Given the description of an element on the screen output the (x, y) to click on. 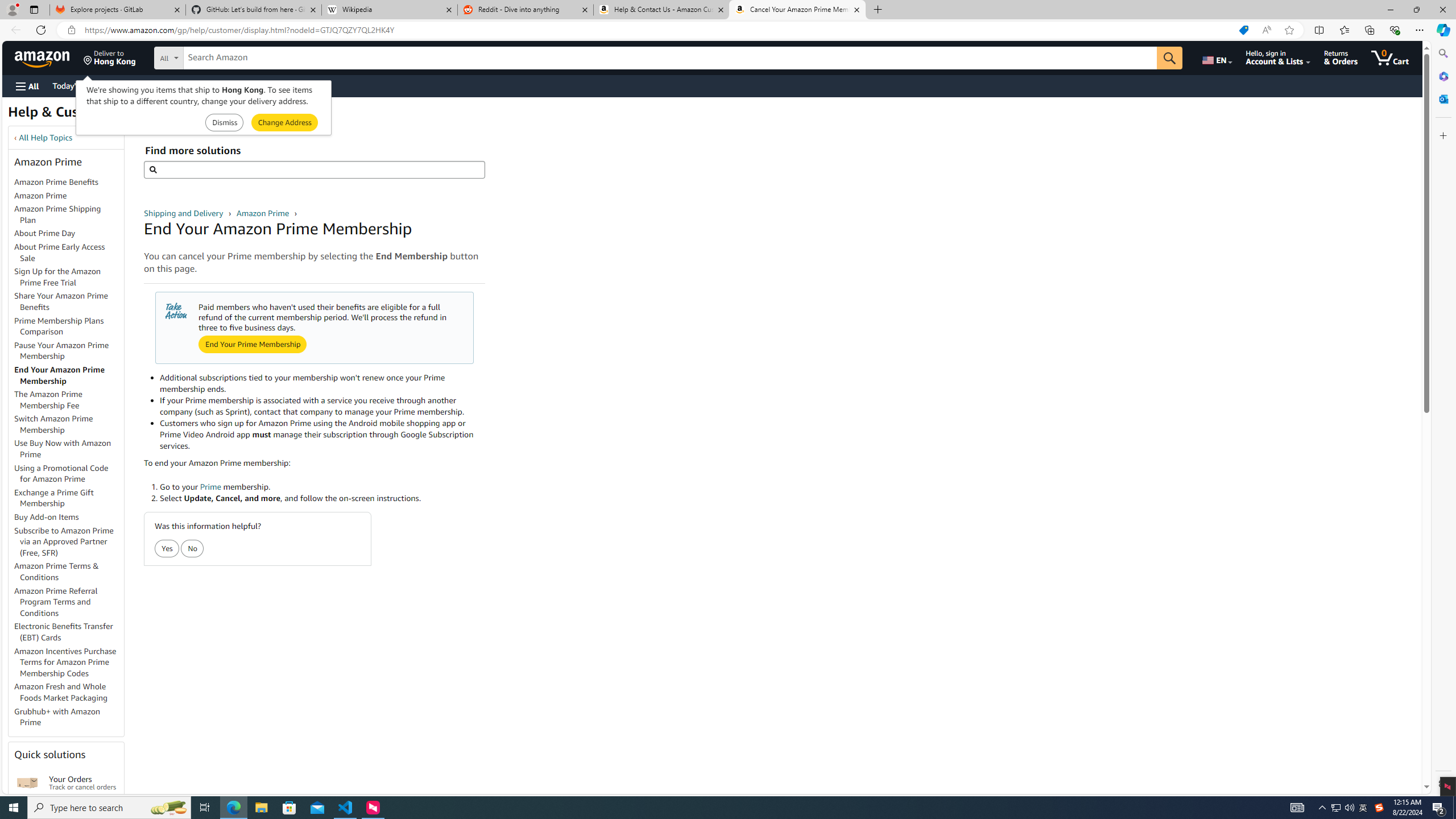
Amazon Prime Benefits (68, 182)
Yes (167, 547)
Submit (284, 122)
Exchange a Prime Gift Membership (68, 498)
Share Your Amazon Prime Benefits (68, 301)
Your Orders (27, 782)
Grubhub+ with Amazon Prime (68, 716)
Use Buy Now with Amazon Prime (68, 449)
No (192, 547)
Amazon Prime Shipping Plan (68, 214)
